Given the description of an element on the screen output the (x, y) to click on. 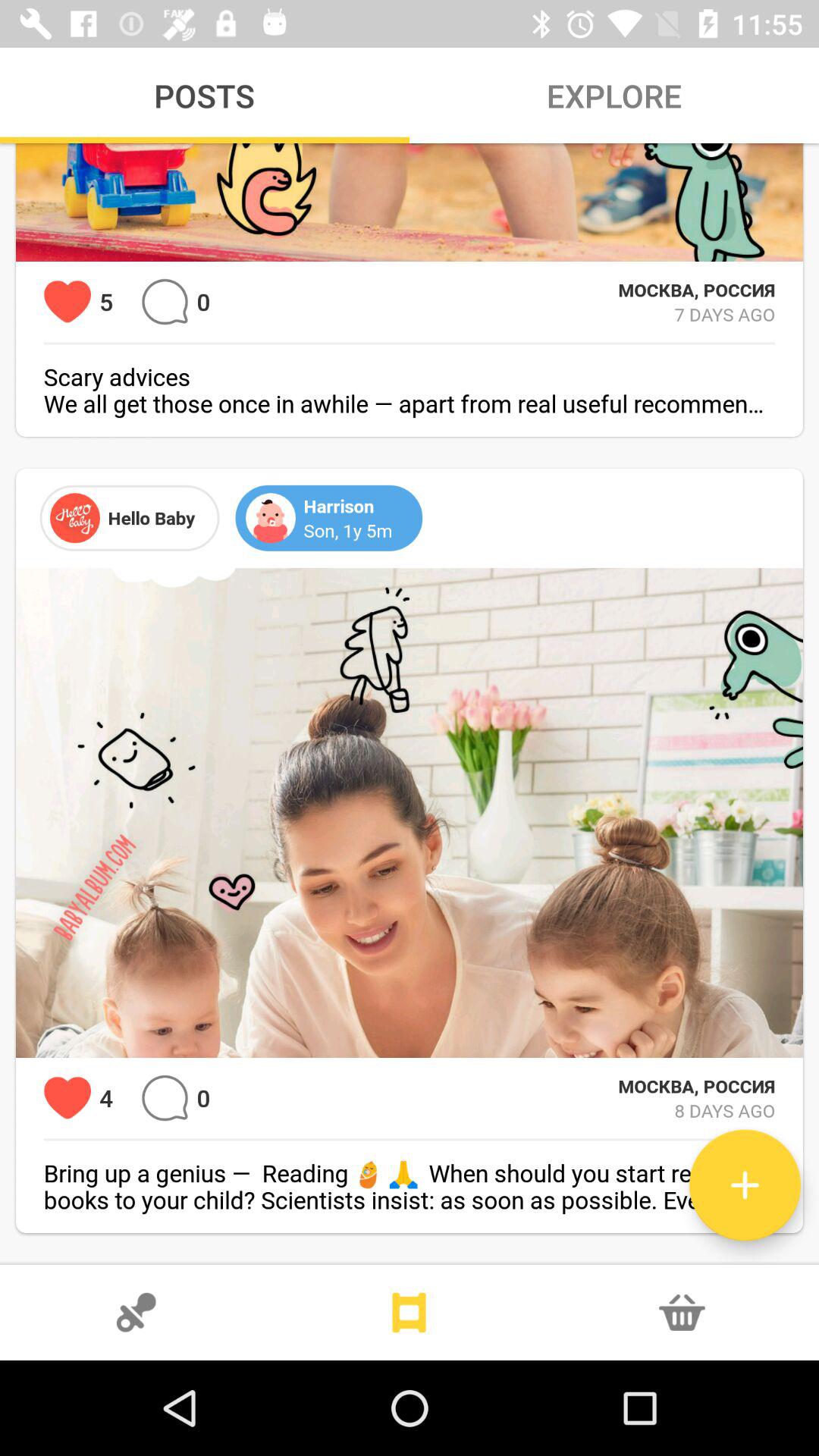
view story (409, 1312)
